Given the description of an element on the screen output the (x, y) to click on. 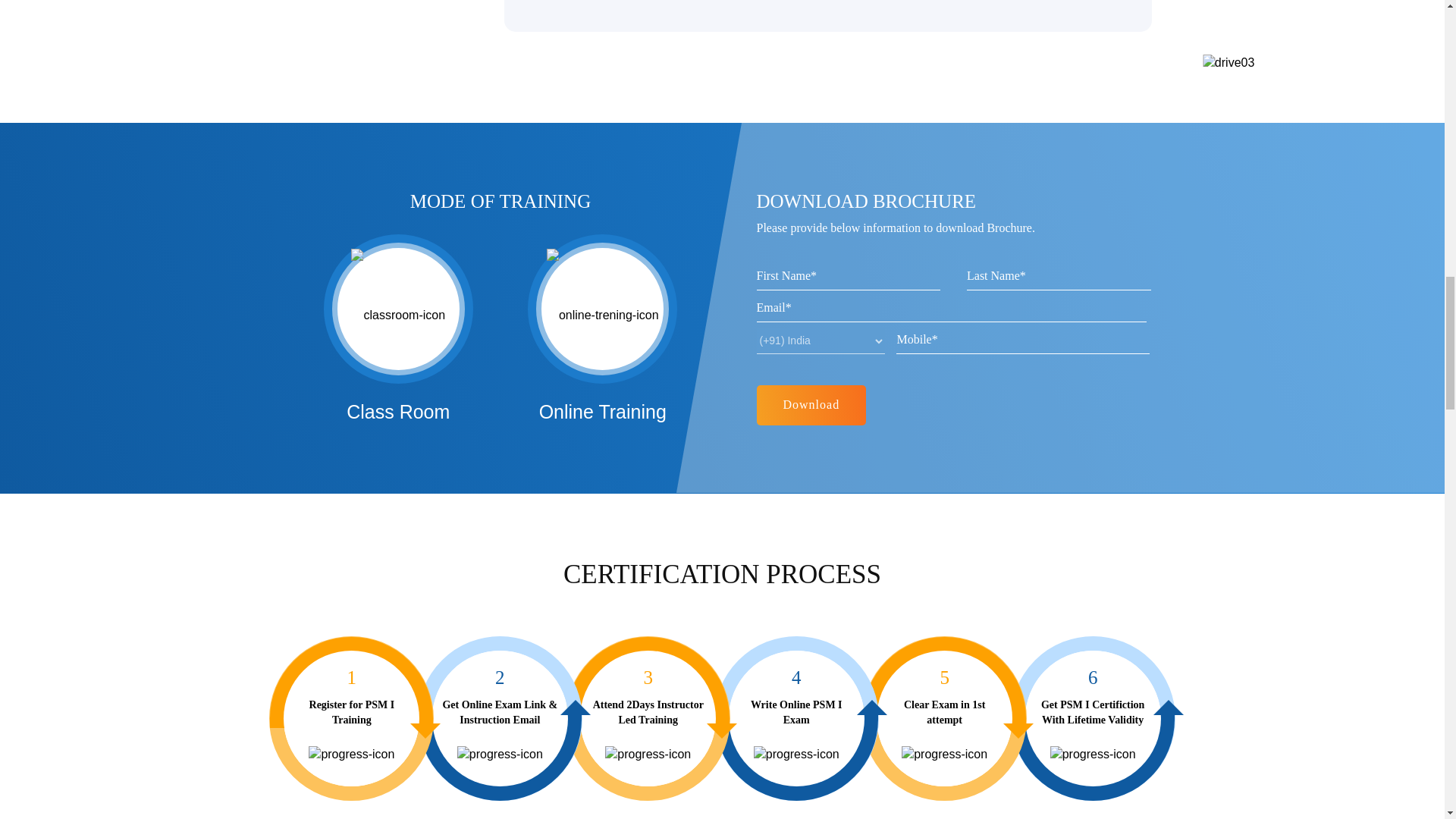
Download (811, 404)
